Given the description of an element on the screen output the (x, y) to click on. 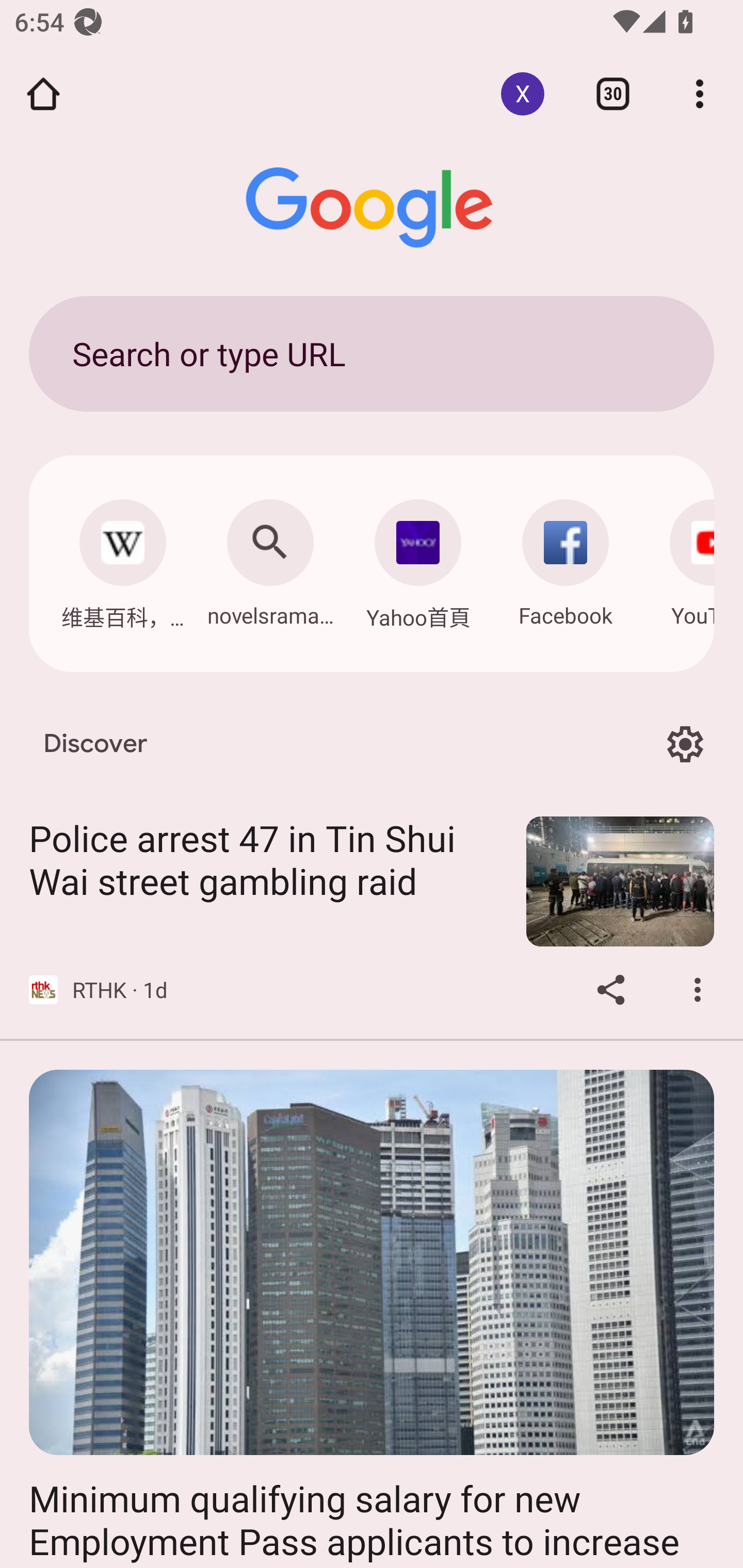
Open the home page (43, 93)
Switch or close tabs (612, 93)
Customize and control Google Chrome (699, 93)
Search or type URL (371, 353)
Navigate: Yahoo首頁: hk.mobi.yahoo.com Yahoo首頁 (417, 558)
Navigate: Facebook: m.facebook.com Facebook (565, 558)
Options for Discover (684, 743)
